Given the description of an element on the screen output the (x, y) to click on. 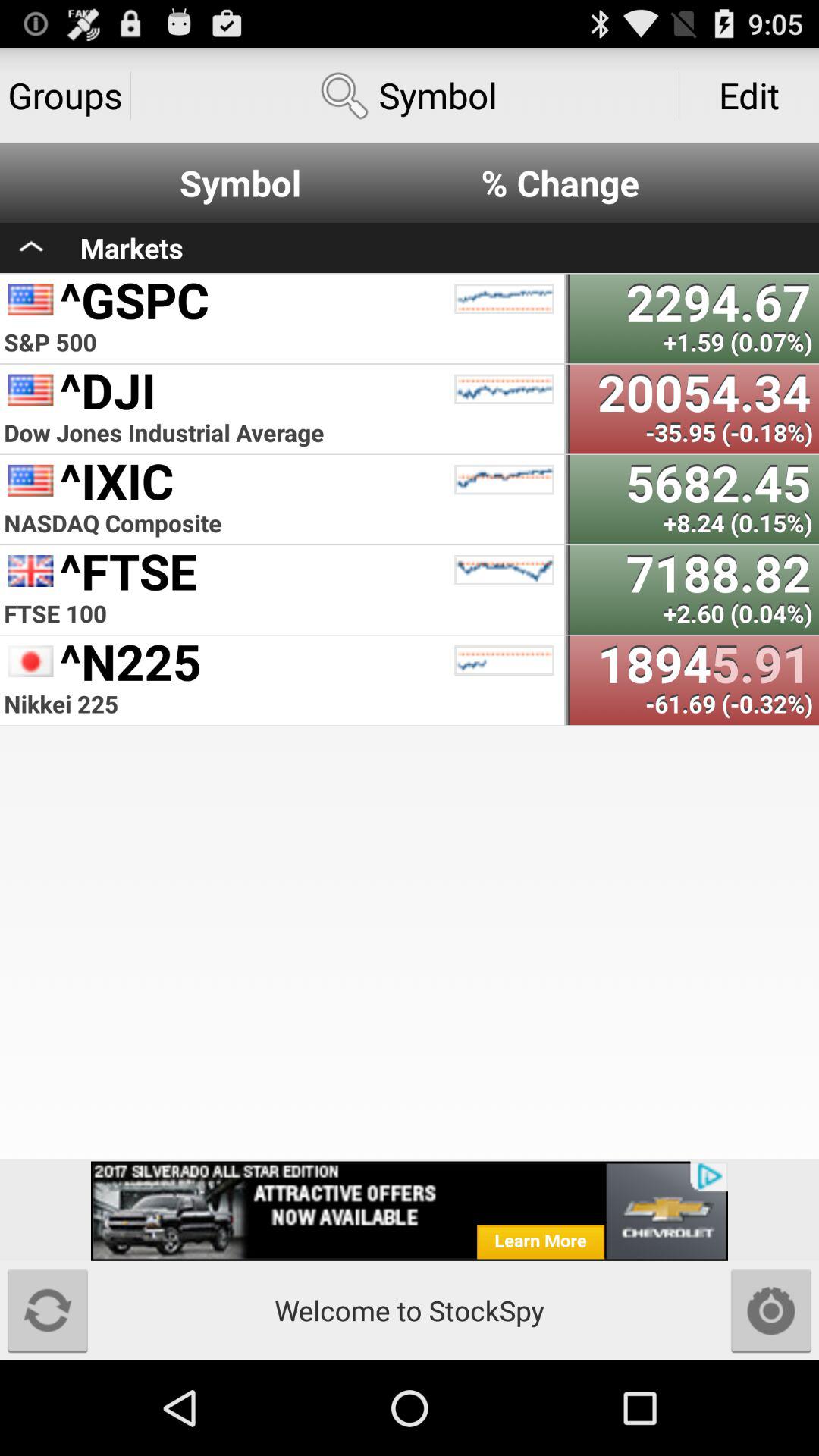
advertisement (409, 1210)
